Given the description of an element on the screen output the (x, y) to click on. 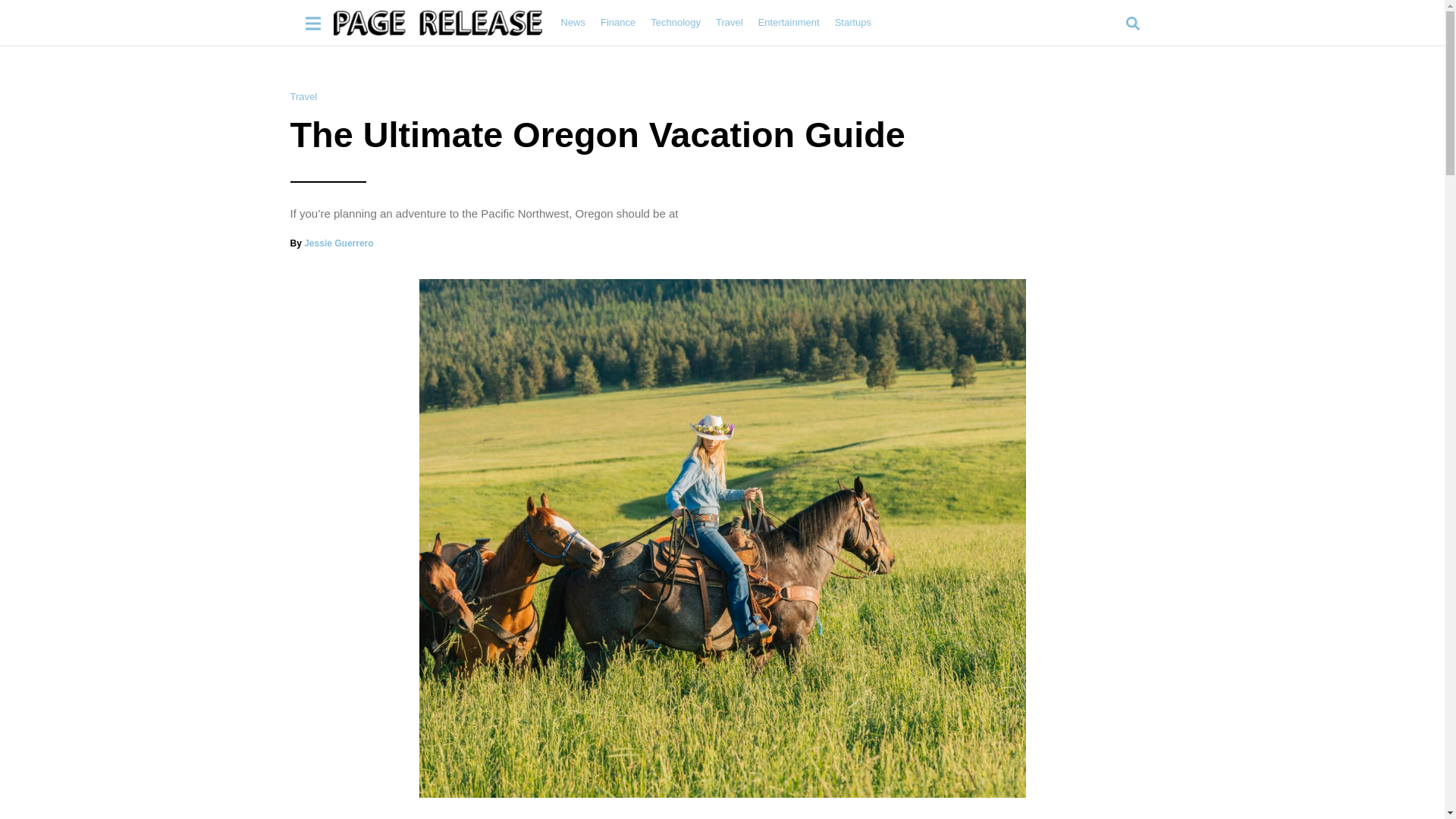
Travel (303, 96)
By Jessie Guerrero (330, 243)
News (573, 22)
Technology (675, 22)
Finance (617, 22)
Travel (729, 22)
Entertainment (789, 22)
Startups (853, 22)
